Given the description of an element on the screen output the (x, y) to click on. 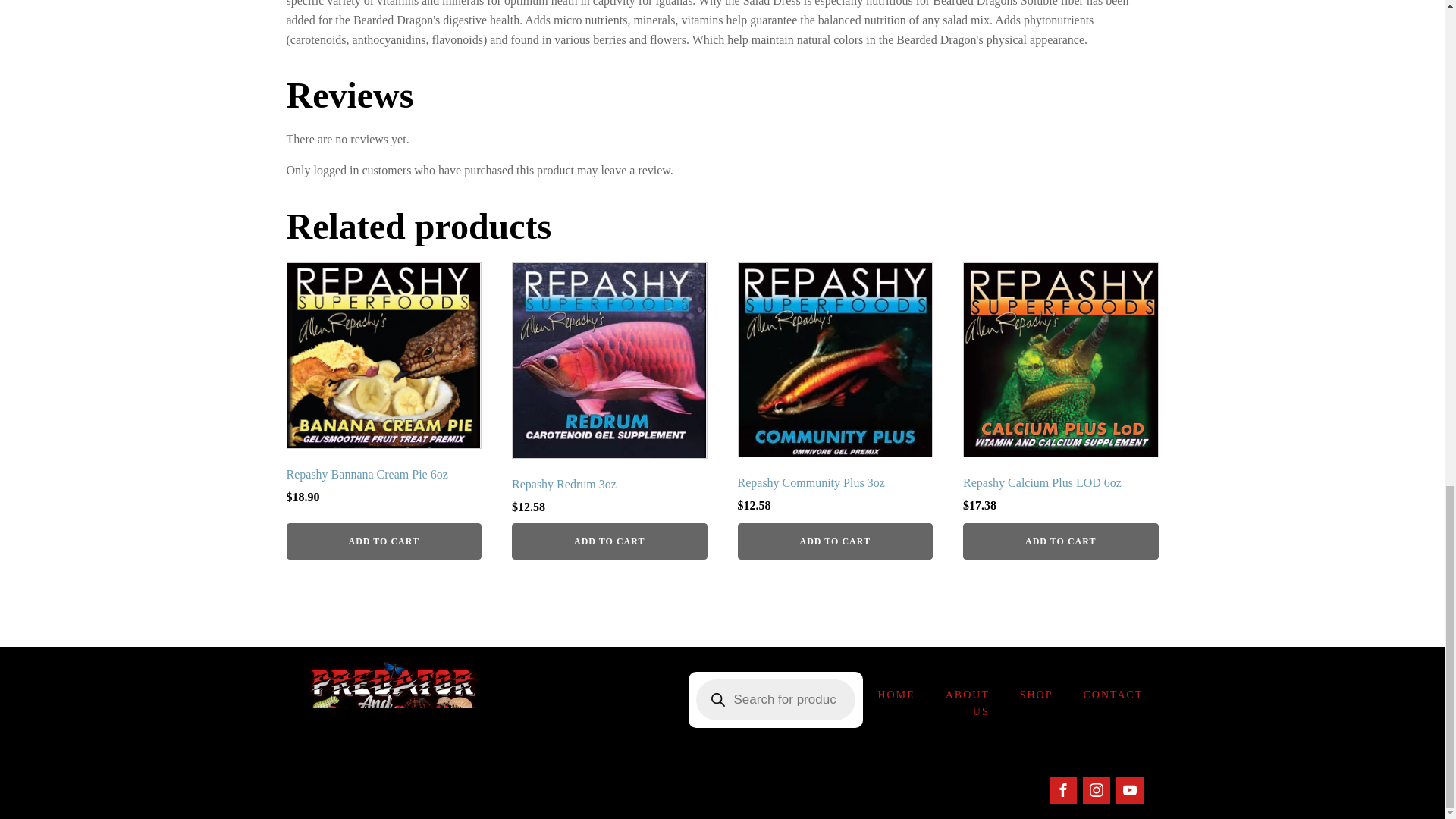
ABOUT US (967, 703)
SHOP (1036, 695)
ADD TO CART (383, 541)
CONTACT (1112, 695)
HOME (896, 695)
ADD TO CART (834, 541)
ADD TO CART (1060, 541)
ADD TO CART (609, 541)
